Given the description of an element on the screen output the (x, y) to click on. 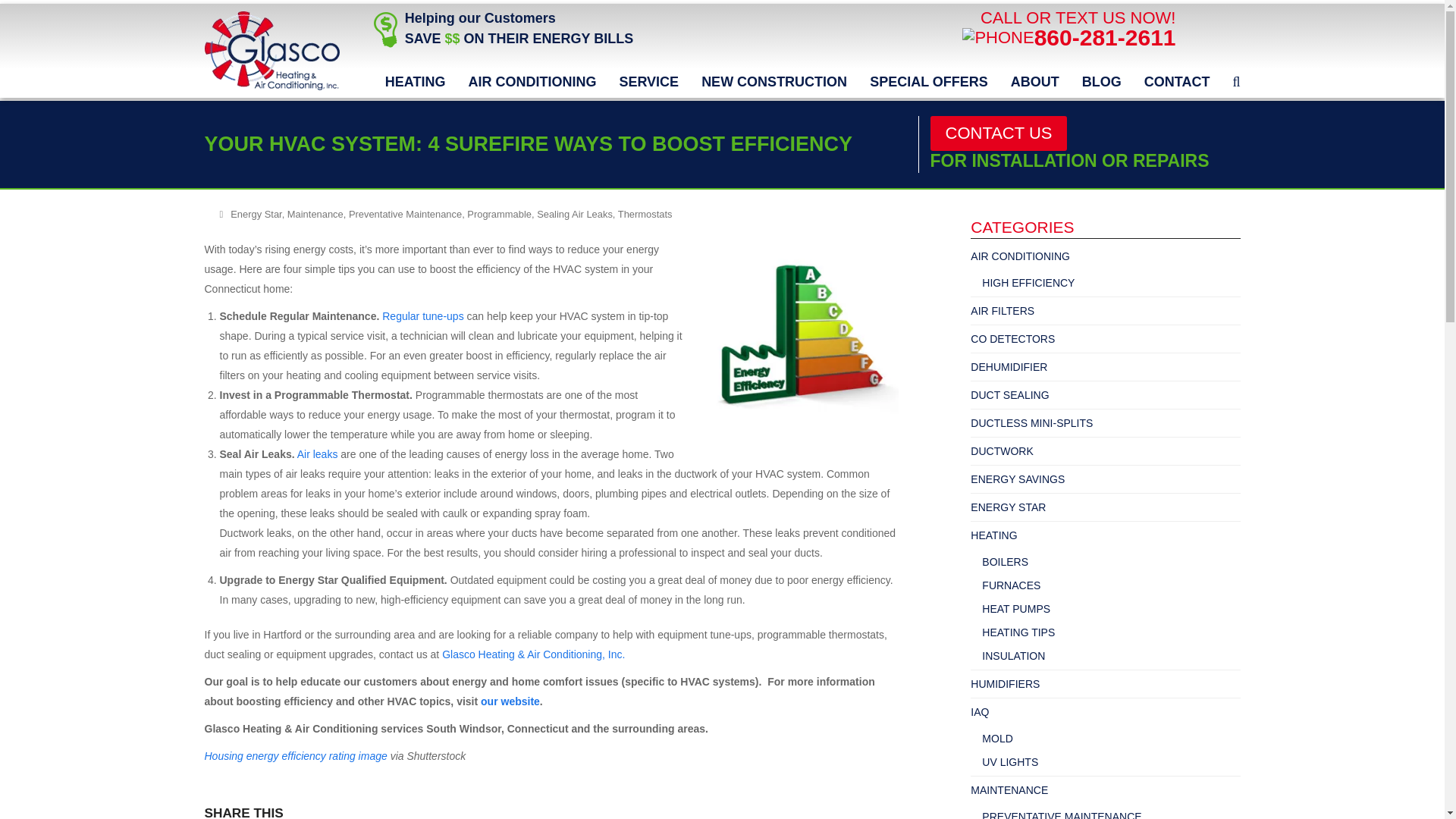
CONTACT US (998, 133)
ABOUT (1034, 81)
Air leaks (317, 453)
HEATING (415, 81)
Maintenance (314, 214)
CONTACT (1176, 81)
SERVICE (648, 81)
our website (510, 701)
860-281-2611 (1104, 37)
Housing energy efficiency rating image (296, 756)
